Given the description of an element on the screen output the (x, y) to click on. 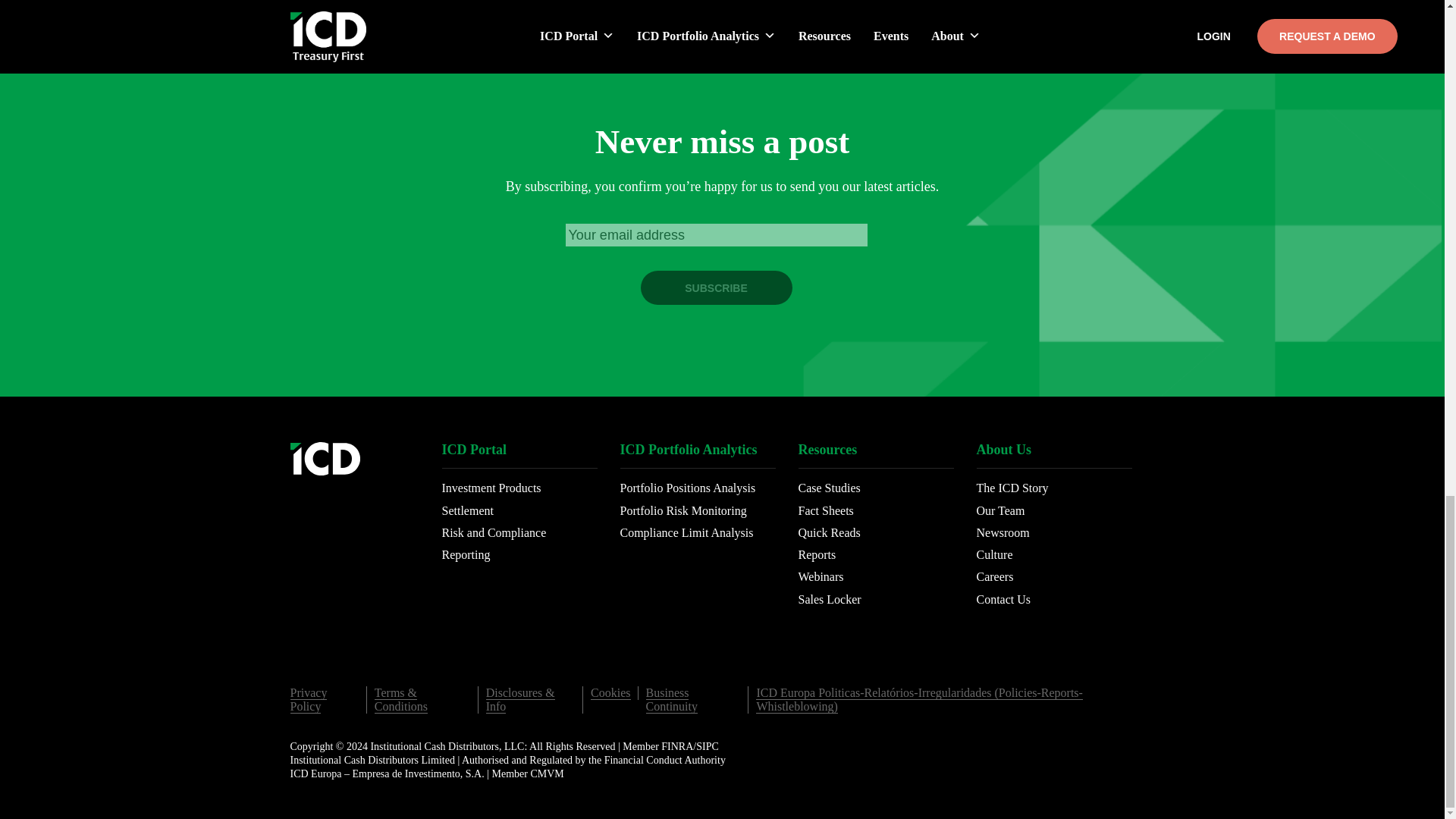
Subscribe (716, 287)
Subscribe (716, 287)
